Given the description of an element on the screen output the (x, y) to click on. 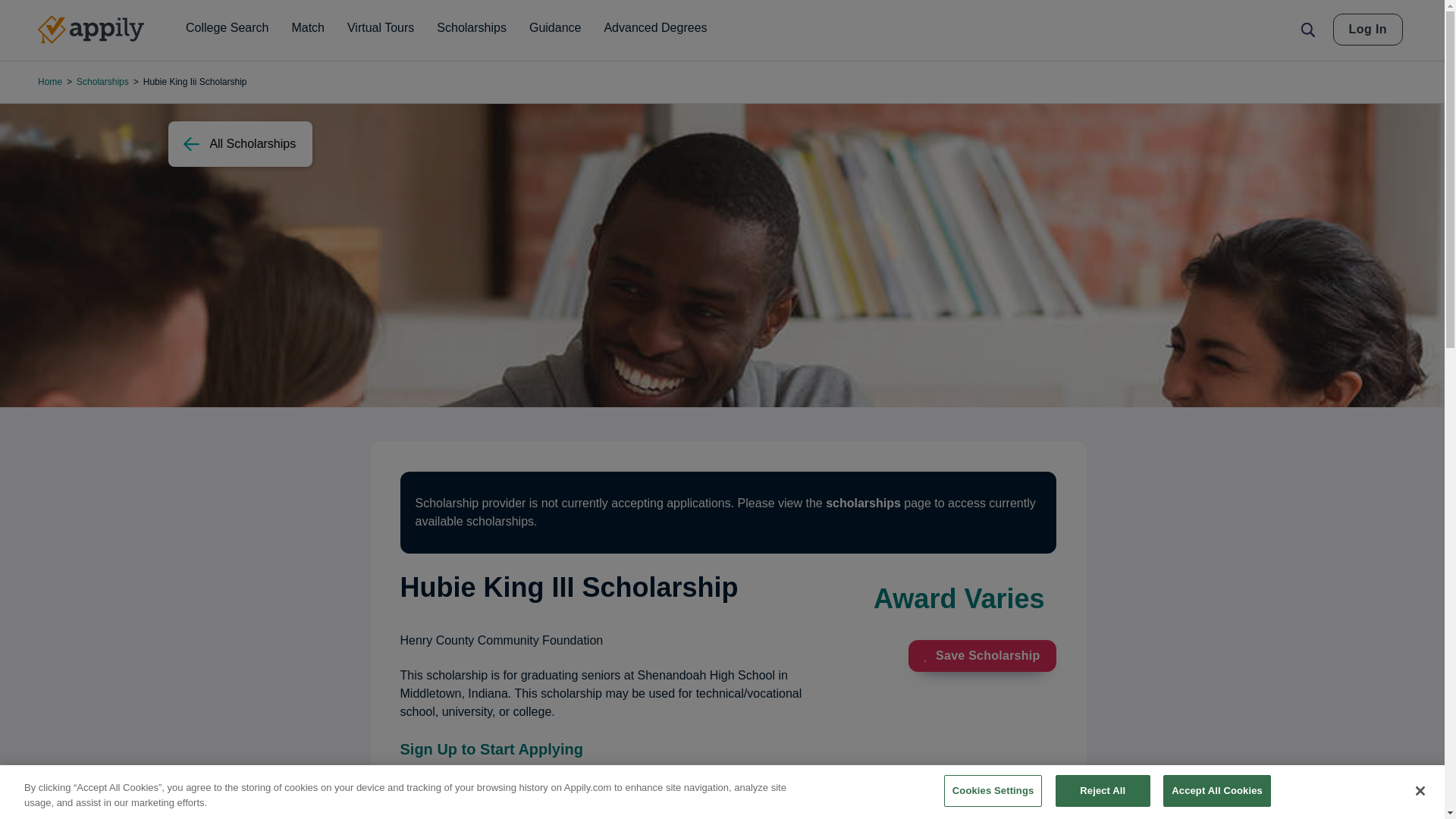
Home (90, 29)
Virtual Tours (380, 28)
Match (307, 28)
Scholarships (471, 28)
College Search (226, 28)
